Given the description of an element on the screen output the (x, y) to click on. 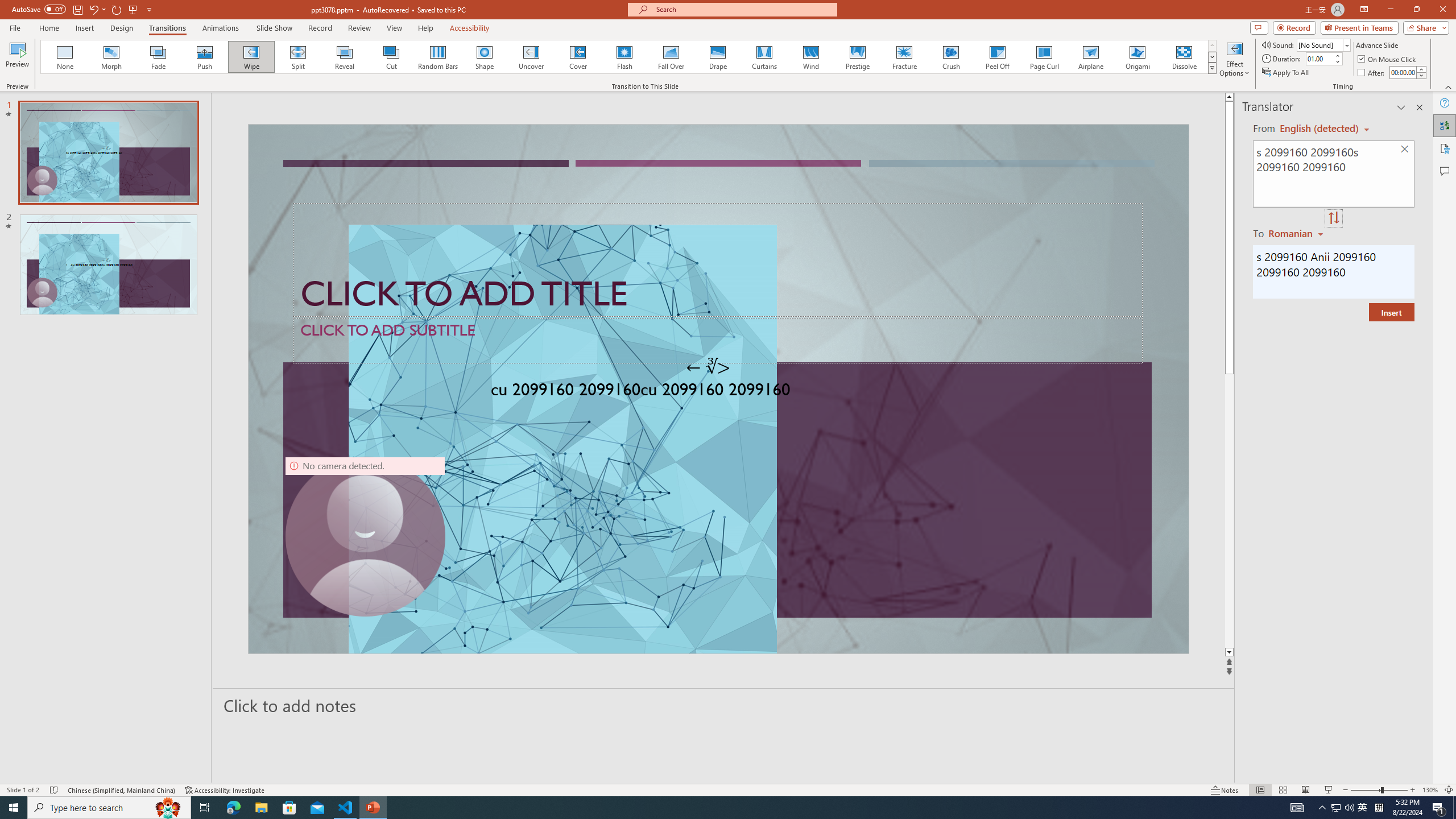
Wipe (251, 56)
Morph (111, 56)
Zoom 130% (1430, 790)
Origami (1136, 56)
Cover (577, 56)
Split (298, 56)
